Given the description of an element on the screen output the (x, y) to click on. 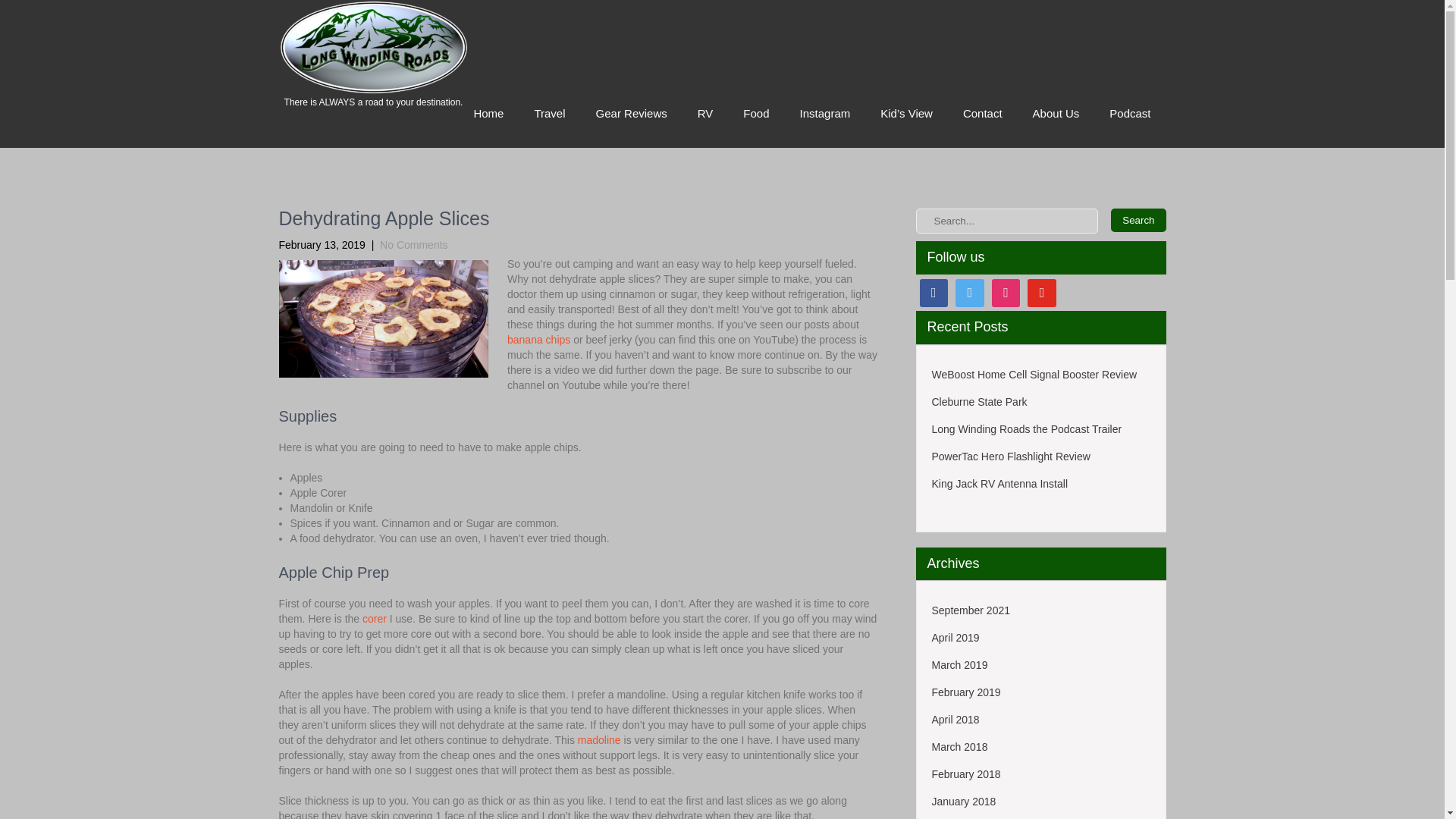
madoline (599, 739)
Search (1138, 219)
banana chips (538, 339)
Podcast (1130, 113)
corer (374, 618)
Search (1138, 219)
Contact (982, 113)
There is ALWAYS a road to your destination. (373, 102)
No Comments (413, 244)
Instagram (825, 113)
Travel (548, 113)
Gear Reviews (631, 113)
About Us (1055, 113)
Search (1138, 219)
